Given the description of an element on the screen output the (x, y) to click on. 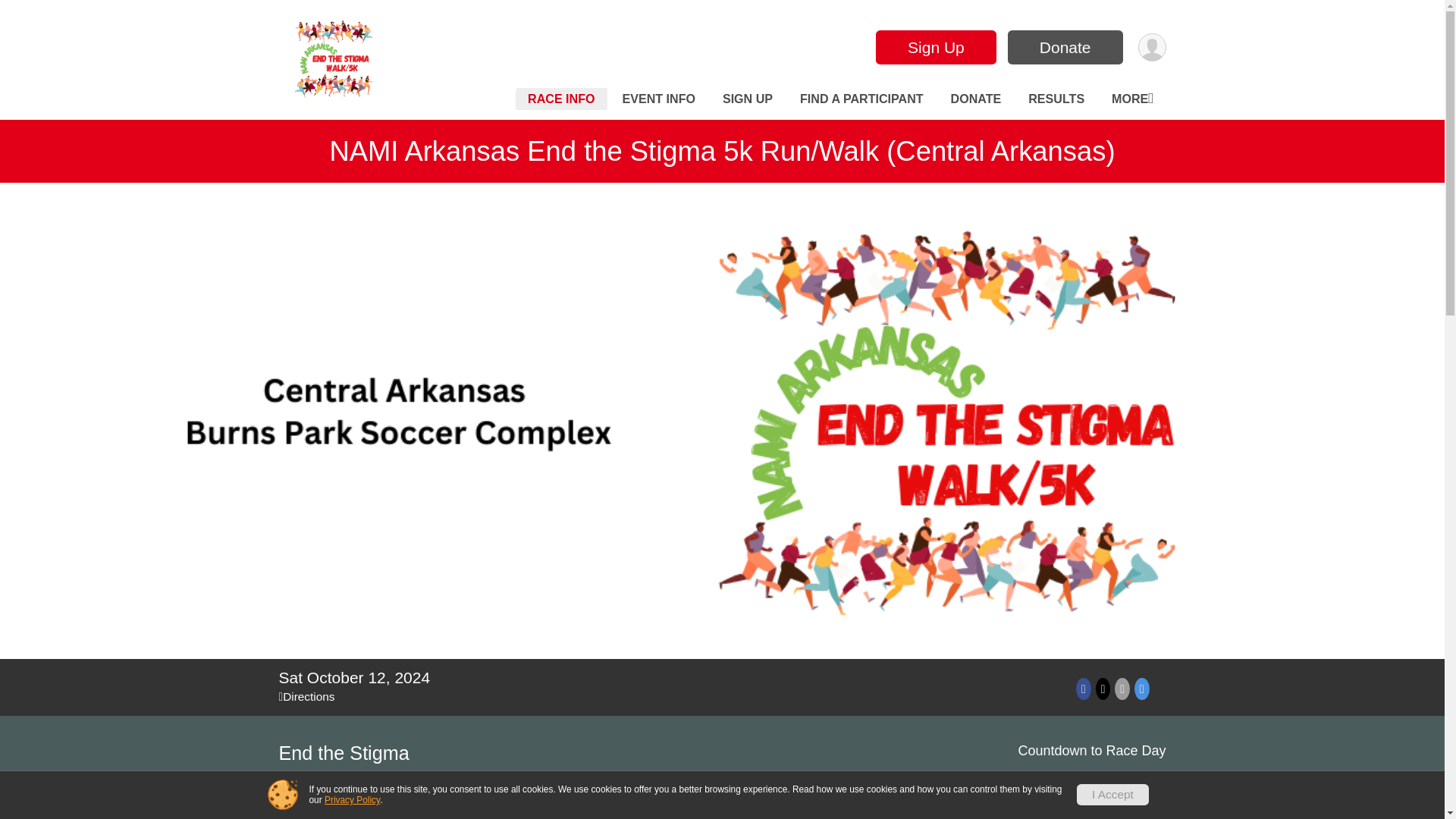
SIGN UP (747, 98)
MORE (1131, 98)
RACE INFO (560, 98)
Donate (1064, 47)
RESULTS (1056, 98)
Sign Up (935, 47)
Directions (306, 696)
FIND A PARTICIPANT (861, 98)
EVENT INFO (658, 98)
DONATE (976, 98)
